Given the description of an element on the screen output the (x, y) to click on. 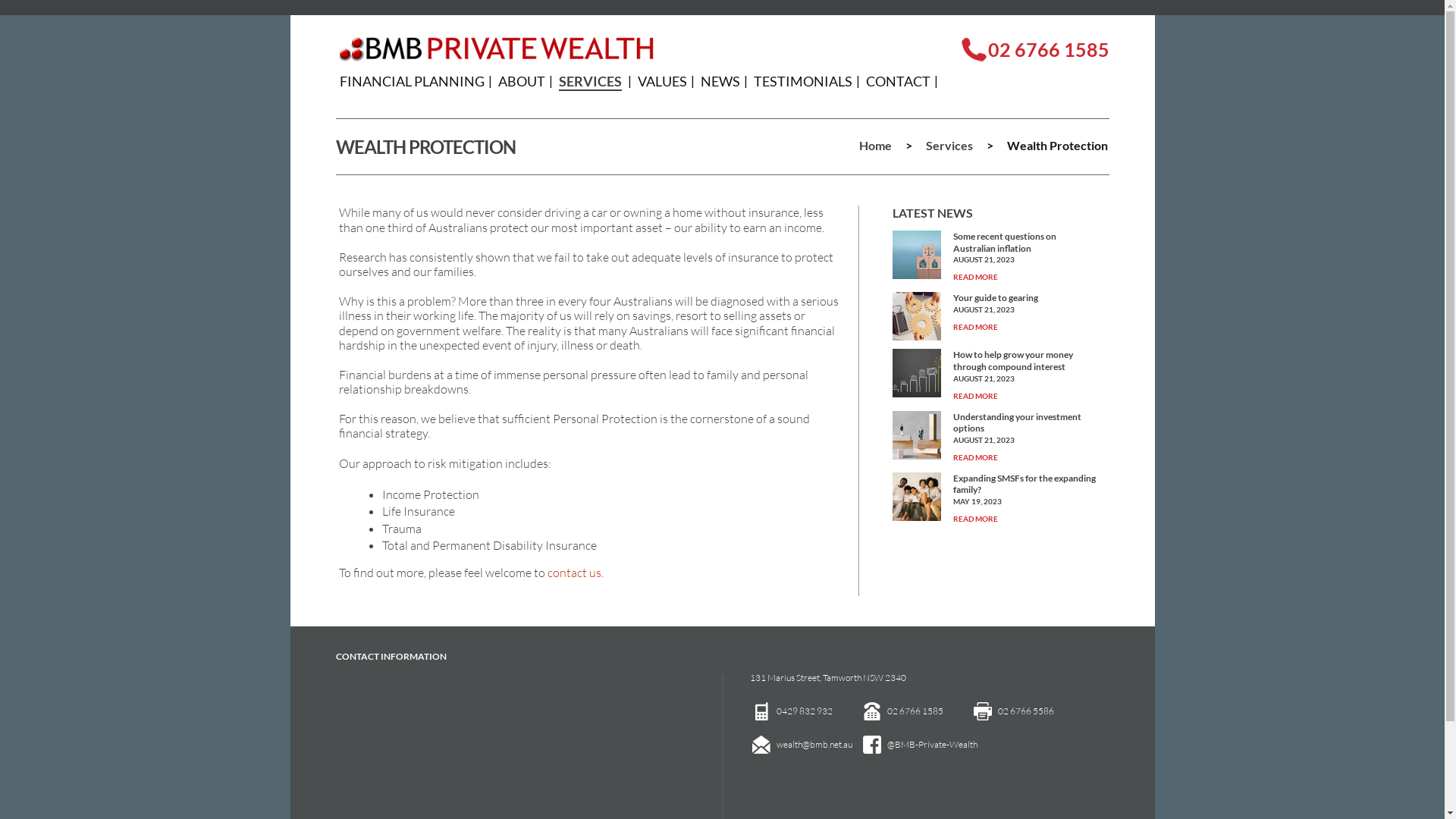
Home Element type: text (875, 145)
@BMB-Private-Wealth Element type: text (932, 743)
contact us Element type: text (574, 572)
NEWS Element type: text (720, 80)
READ MORE Element type: text (974, 518)
READ MORE Element type: text (974, 326)
ABOUT Element type: text (520, 80)
READ MORE Element type: text (974, 276)
Services Element type: text (948, 145)
wealth@bmb.net.au Element type: text (814, 743)
Skip to content Element type: text (312, 68)
CONTACT Element type: text (898, 80)
FINANCIAL PLANNING Element type: text (411, 80)
READ MORE Element type: text (974, 456)
READ MORE Element type: text (974, 395)
SERVICES Element type: text (589, 81)
VALUES Element type: text (661, 80)
TESTIMONIALS Element type: text (802, 80)
